Given the description of an element on the screen output the (x, y) to click on. 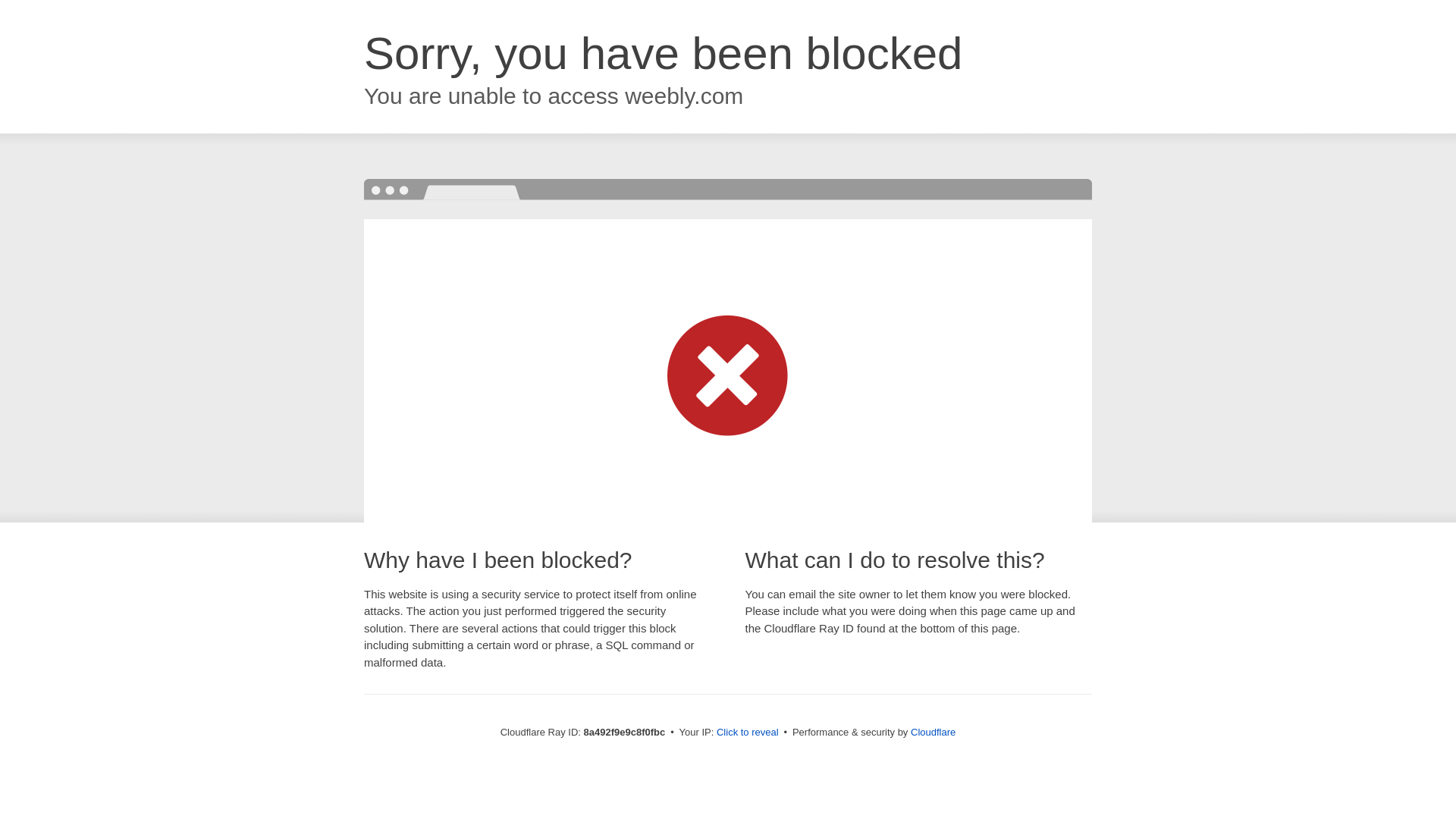
Click to reveal (747, 732)
Cloudflare (933, 731)
